Given the description of an element on the screen output the (x, y) to click on. 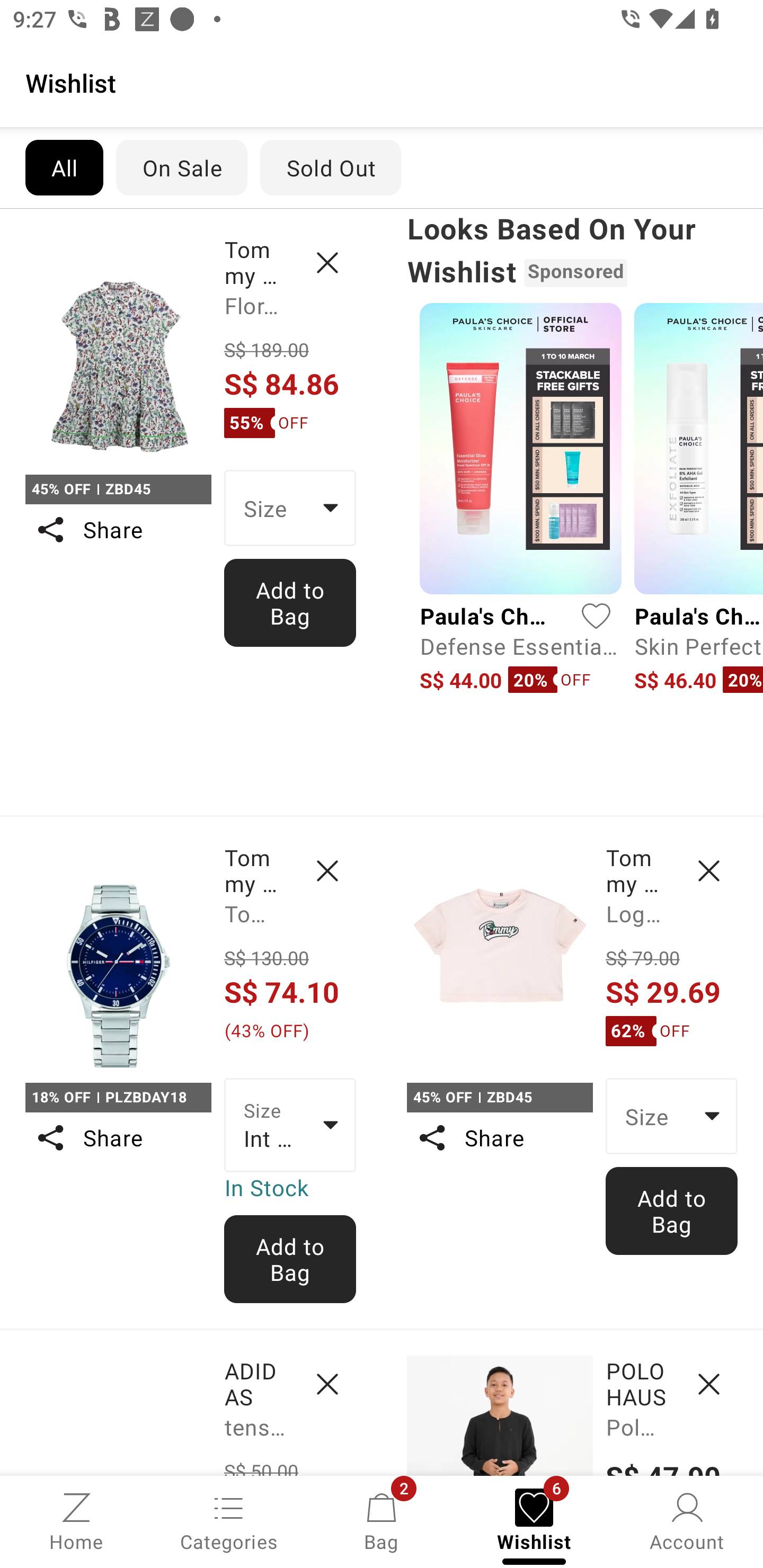
Wishlist (381, 82)
All (64, 167)
On Sale (181, 167)
Sold Out (330, 167)
Size (290, 507)
Share (118, 529)
Add to Bag (290, 602)
Size Int One Size (290, 1125)
Size (671, 1116)
Share (118, 1137)
Share (499, 1137)
Add to Bag (671, 1210)
Add to Bag (290, 1259)
Home (76, 1519)
Categories (228, 1519)
Bag, 2 new notifications Bag (381, 1519)
Account (686, 1519)
